Given the description of an element on the screen output the (x, y) to click on. 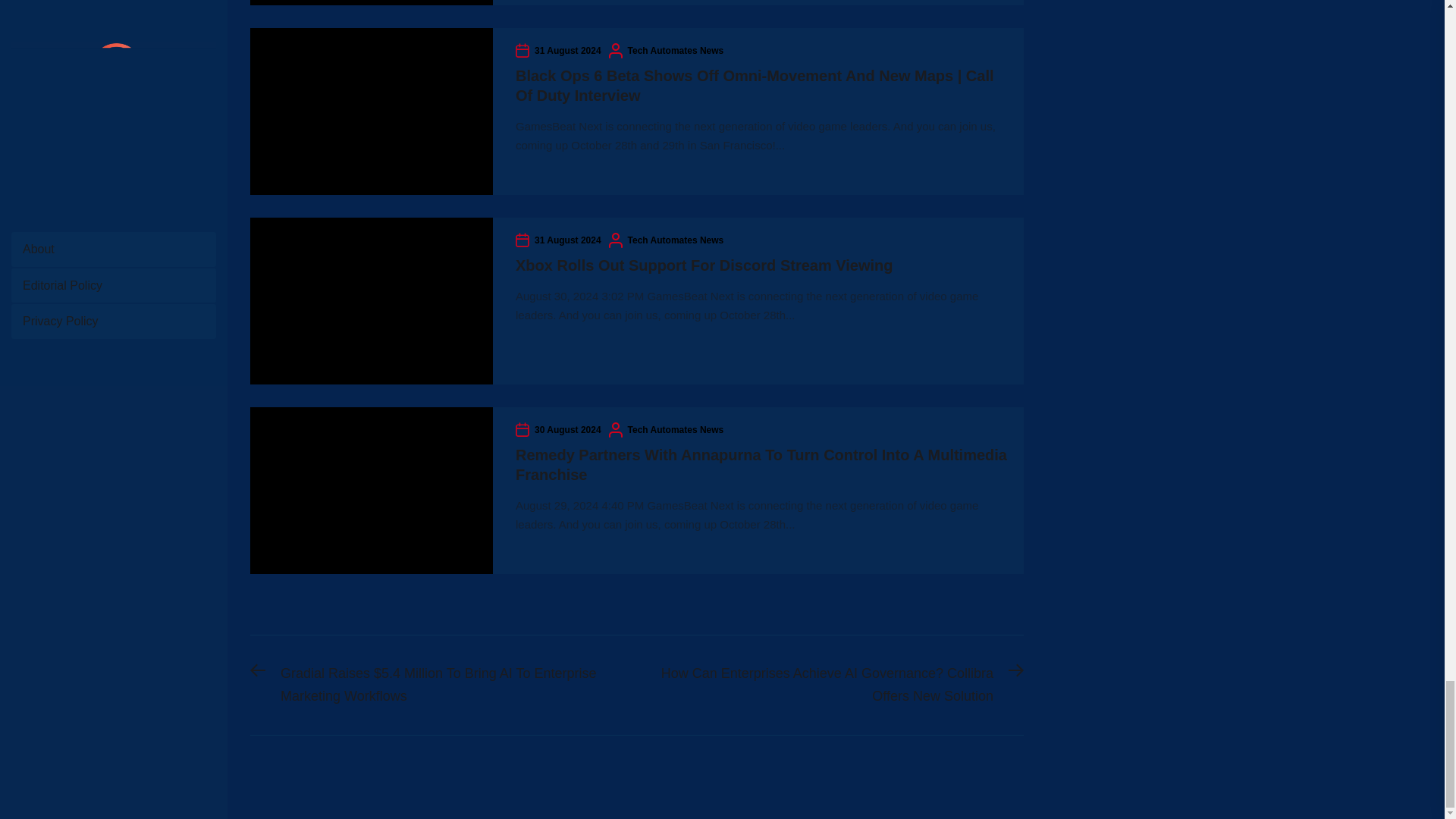
Tech Automates News (675, 429)
Xbox Rolls Out Support For Discord Stream Viewing (703, 265)
Tech Automates News (675, 50)
31 August 2024 (567, 50)
31 August 2024 (567, 240)
30 August 2024 (567, 429)
Tech Automates News (675, 240)
